Given the description of an element on the screen output the (x, y) to click on. 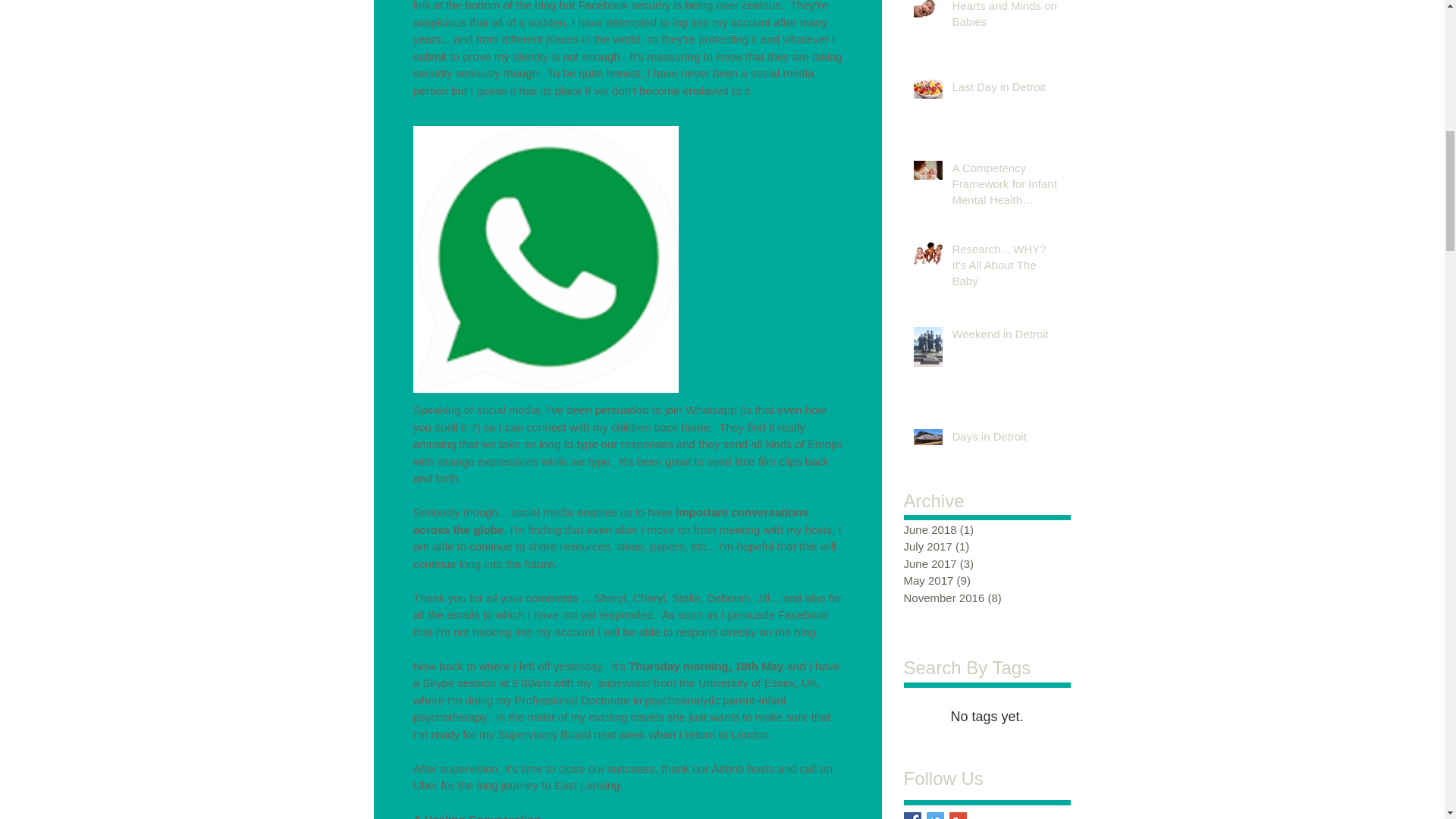
Days in Detroit (1006, 439)
Research... WHY? It's All About The Baby (1006, 267)
Weekend in Detroit (1006, 336)
Last Day in Detroit (1006, 89)
Hearts and Minds on Babies (1006, 18)
